Given the description of an element on the screen output the (x, y) to click on. 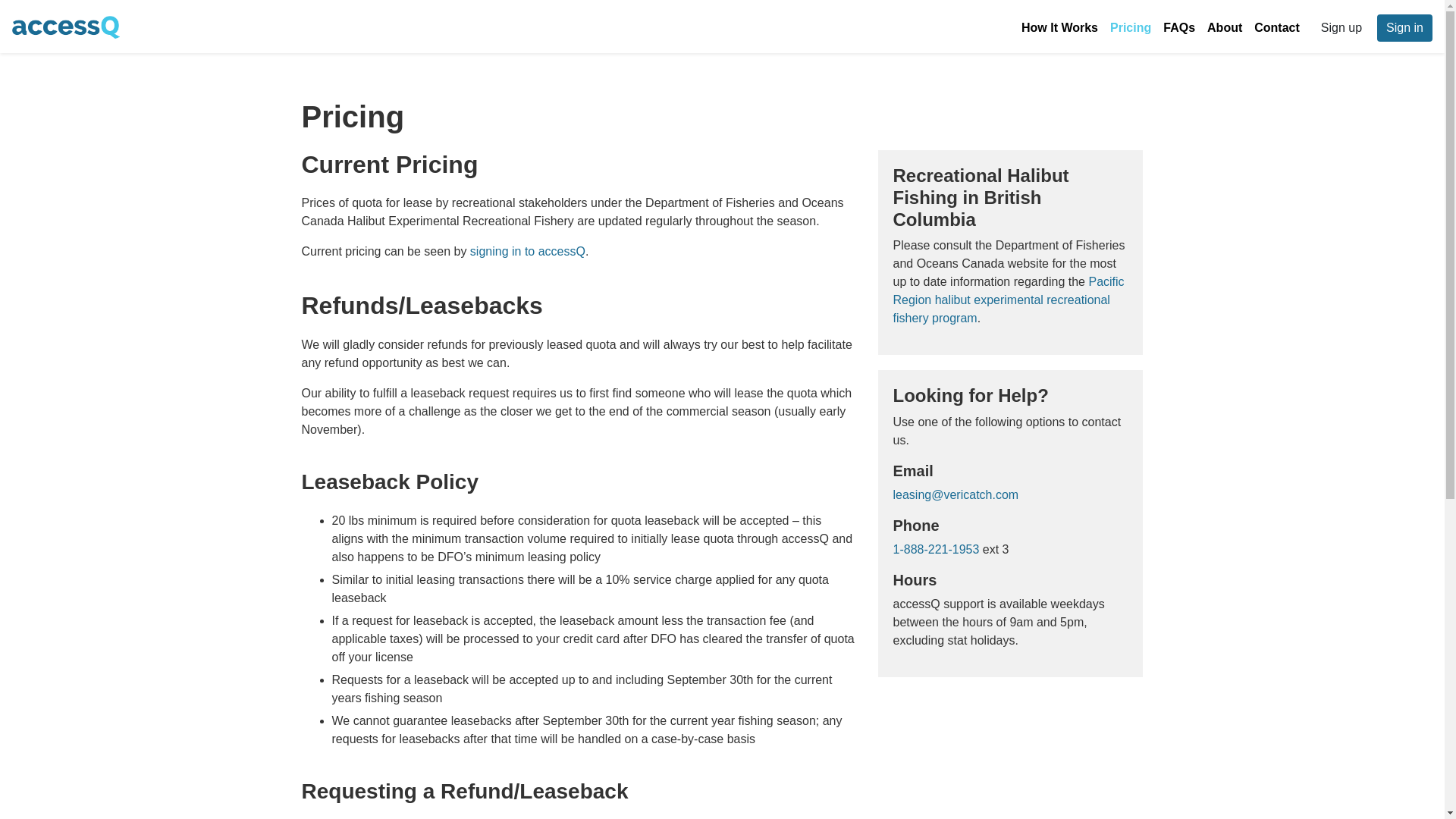
Sign in (1404, 27)
FAQs (1179, 28)
Sign up (1341, 27)
Pricing (1130, 28)
signing in to accessQ (527, 250)
1-888-221-1953 (936, 549)
Contact (1276, 28)
How It Works (1058, 28)
About (1224, 28)
